Given the description of an element on the screen output the (x, y) to click on. 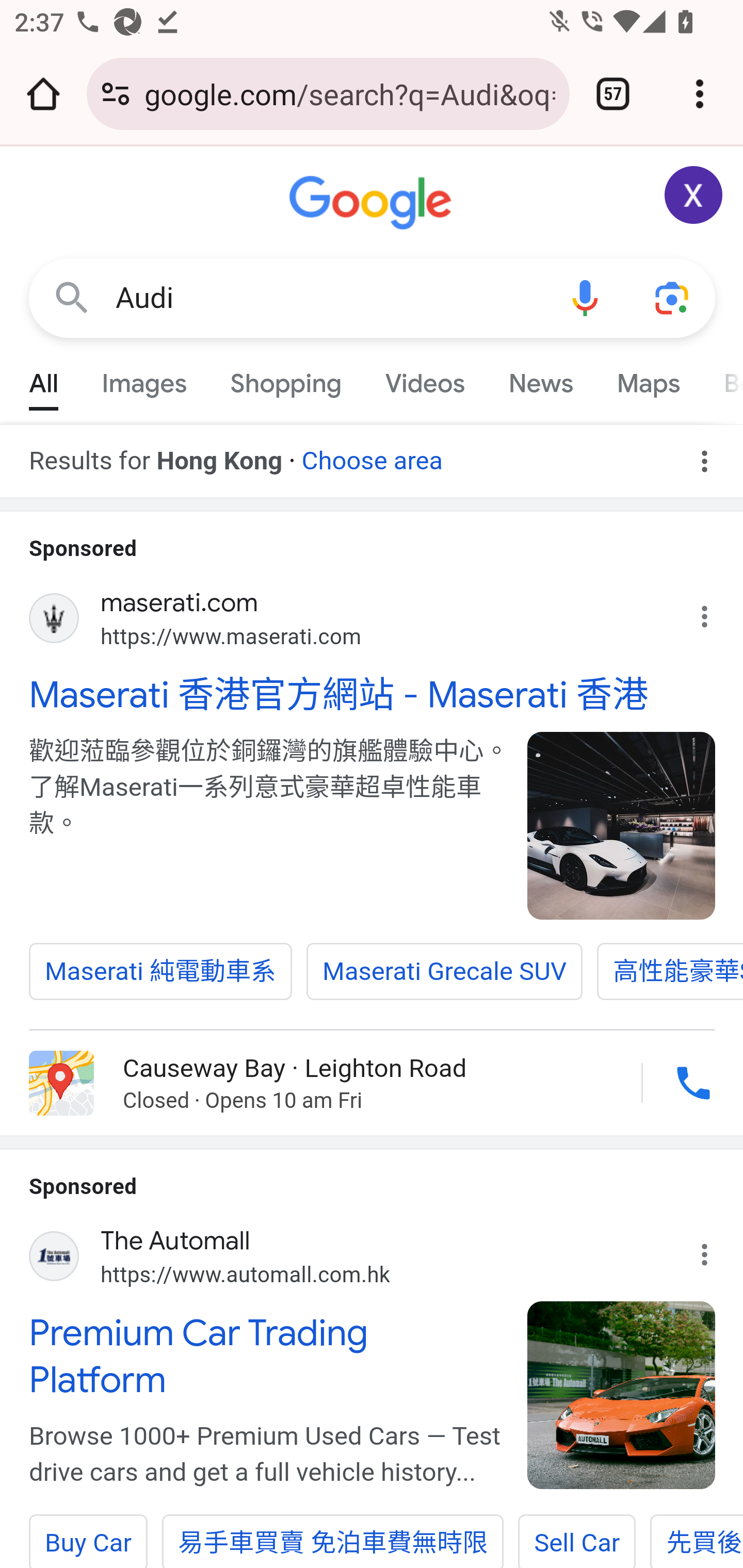
Open the home page (43, 93)
Connection is secure (115, 93)
Switch or close tabs (612, 93)
Customize and control Google Chrome (699, 93)
Google (372, 203)
Google Account: Xiaoran (zxrappiumtest@gmail.com) (694, 195)
Google Search (71, 296)
Search using your camera or photos (672, 296)
Audi (328, 297)
Images (144, 378)
Shopping (285, 378)
Videos (424, 378)
News (540, 378)
Maps (647, 378)
Choose area (371, 453)
Why this ad? (714, 611)
Maserati 香港官方網站 - Maserati 香港 (372, 694)
Image from maserati.com (621, 825)
Maserati 純電動車系 (160, 971)
Maserati Grecale SUV (443, 971)
高性能豪華SUV Levante (669, 971)
Why this ad? (714, 1248)
Image from automall.com.hk (621, 1395)
Premium Car Trading Platform (266, 1356)
Buy Car (87, 1540)
易手車買賣 免泊車費無時限 (332, 1540)
Sell Car (576, 1540)
先買後驗 信心保證 (696, 1540)
